Given the description of an element on the screen output the (x, y) to click on. 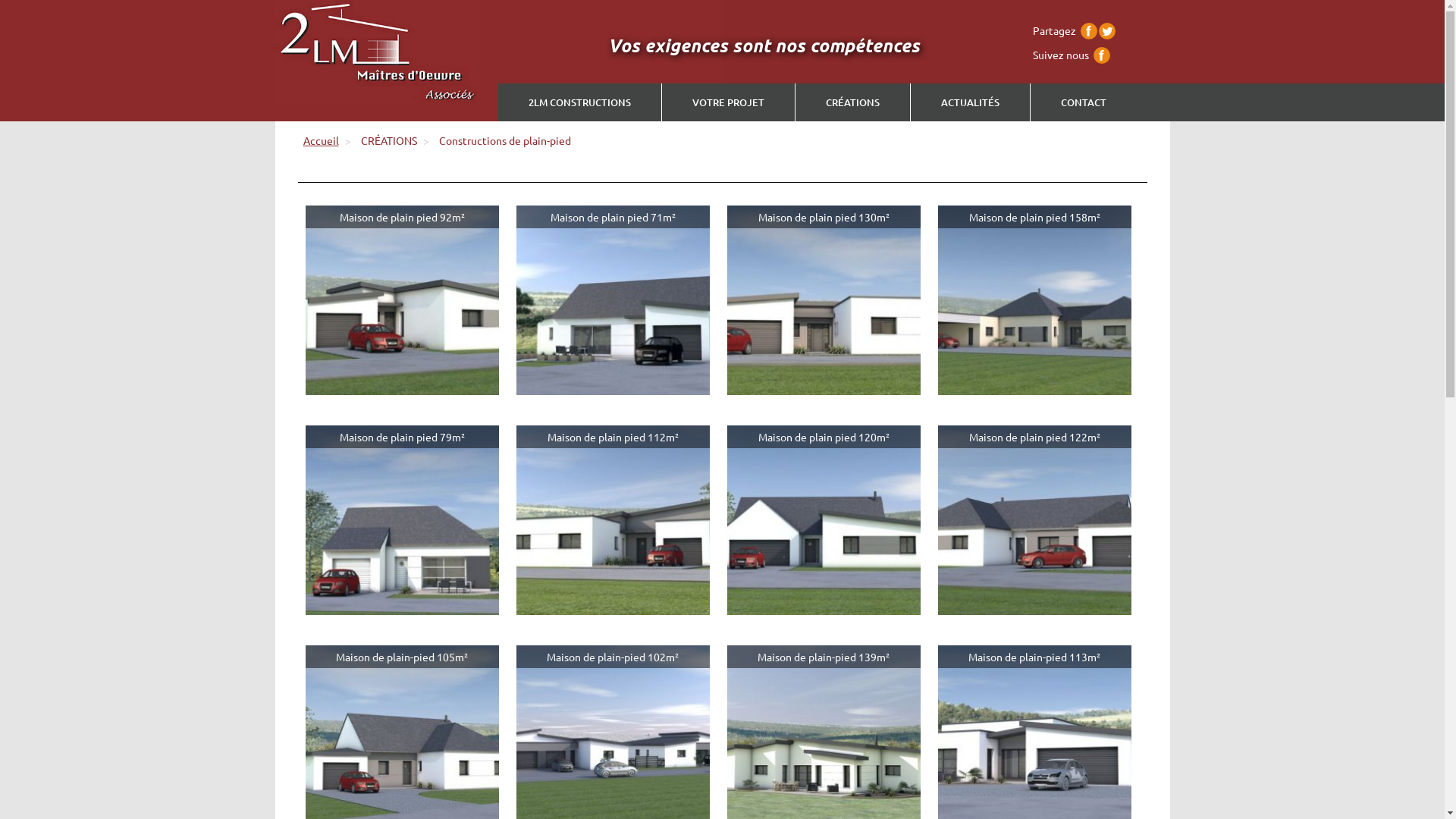
Suivez nous Element type: text (1060, 54)
CONTACT Element type: text (1083, 102)
Accueil Element type: text (320, 140)
